Given the description of an element on the screen output the (x, y) to click on. 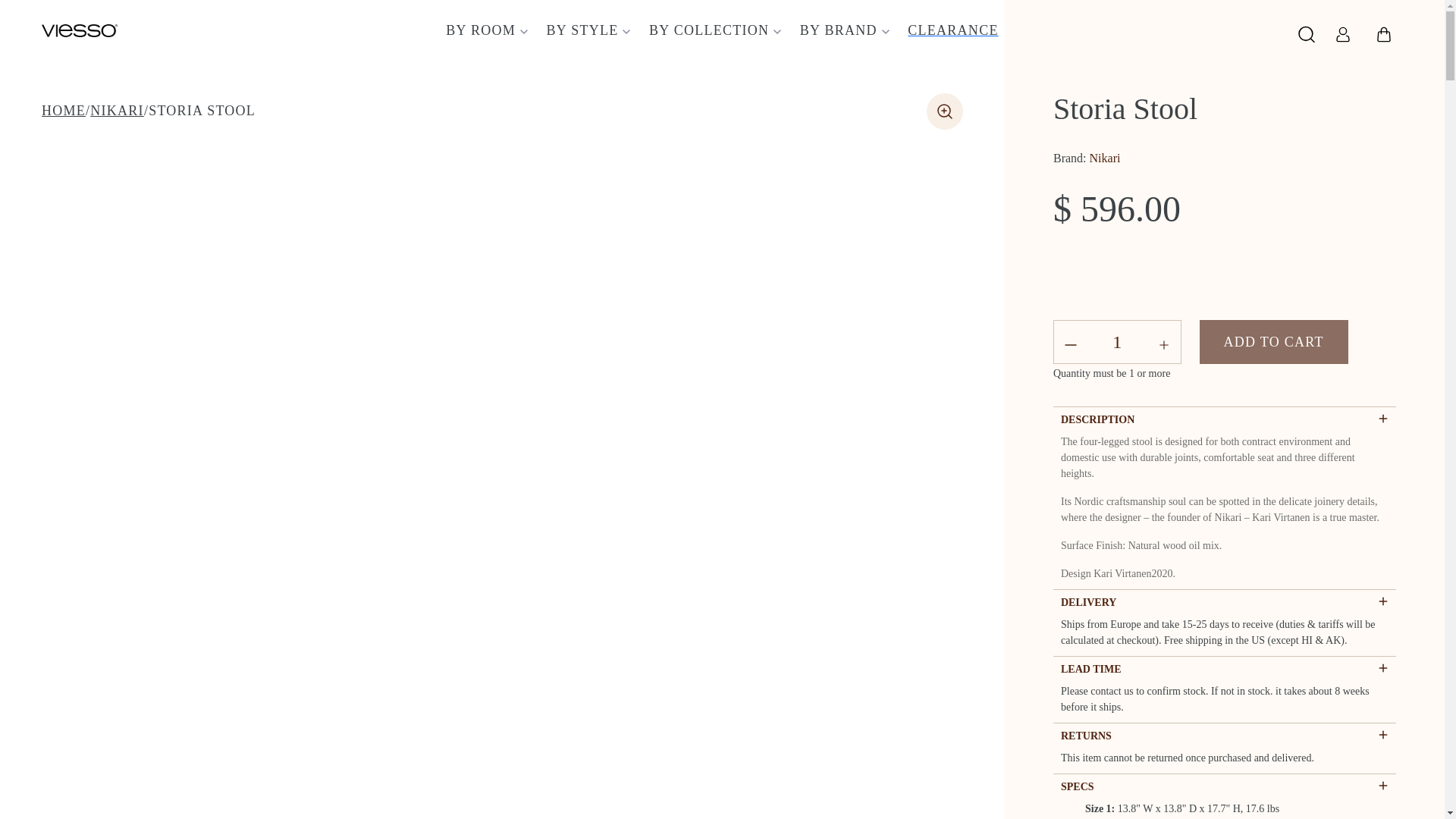
Home (63, 110)
BY ROOM (486, 30)
1 (1117, 342)
